Given the description of an element on the screen output the (x, y) to click on. 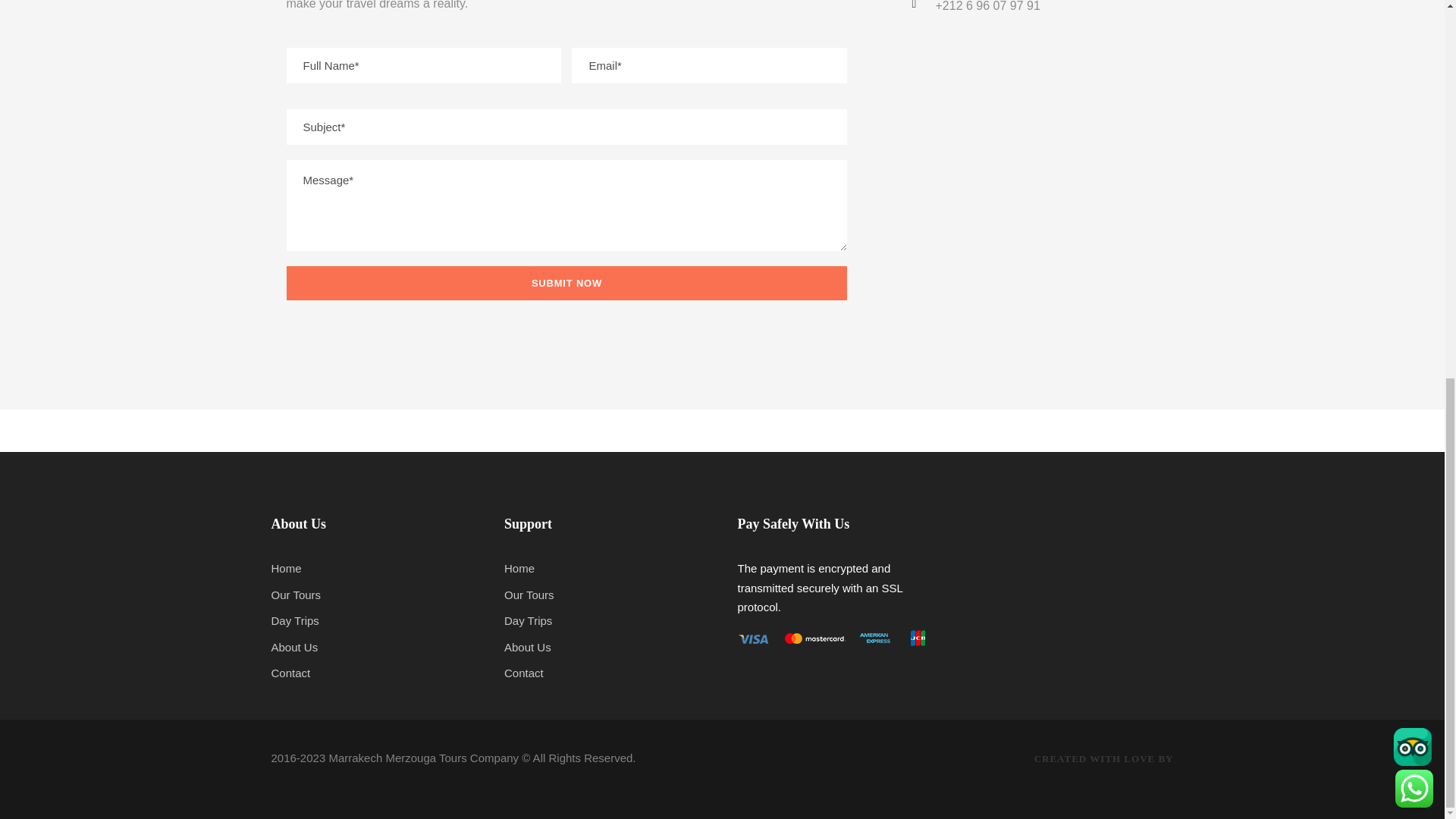
About Us (527, 646)
Submit Now (566, 283)
About Us (294, 646)
Day Trips (294, 620)
Home (518, 567)
Home (285, 567)
Our Tours (528, 594)
Our Tours (295, 594)
Day Trips (527, 620)
Contact (290, 672)
Submit Now (566, 283)
